Given the description of an element on the screen output the (x, y) to click on. 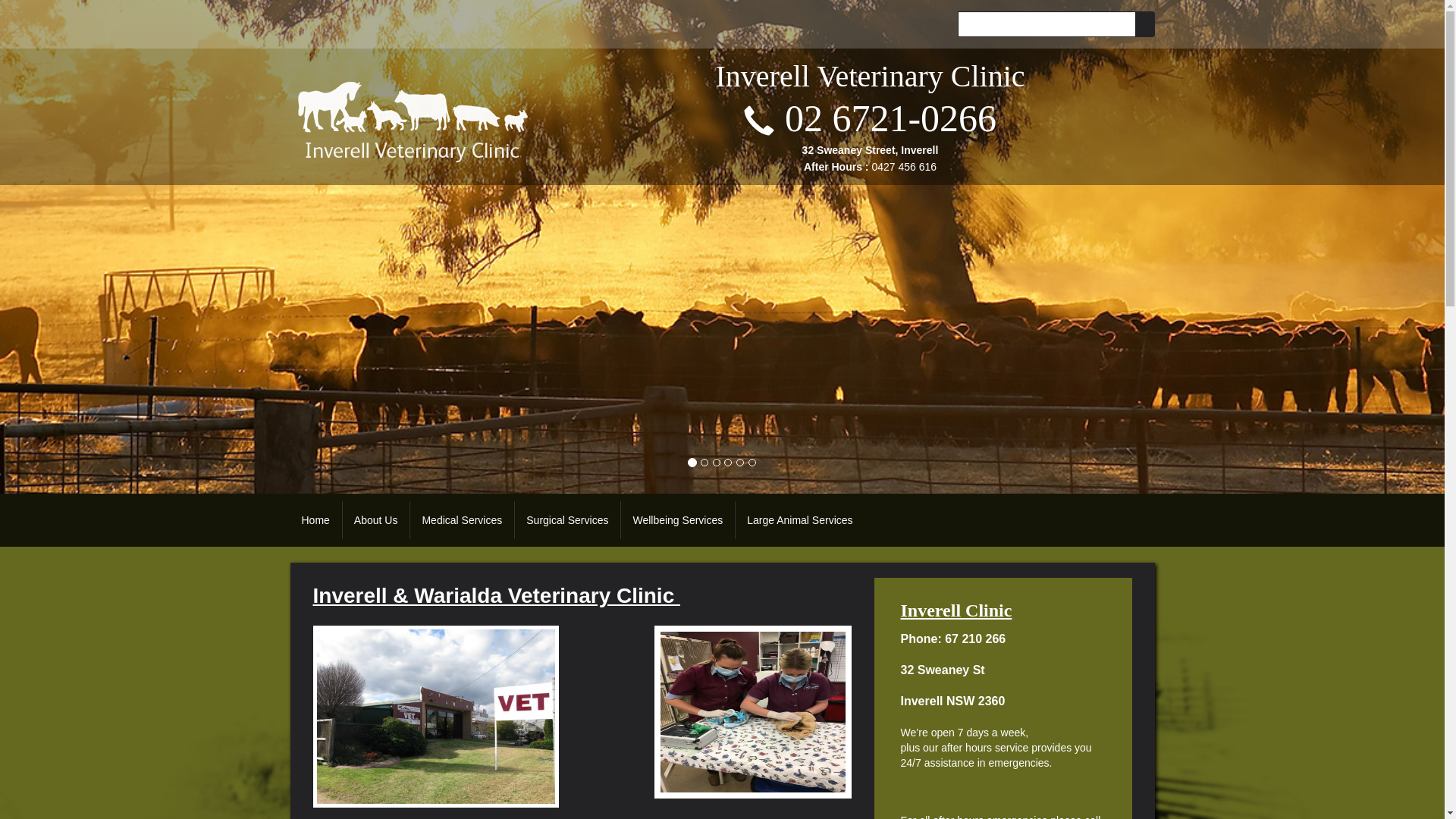
0427 456 616 Element type: text (903, 166)
Home Element type: text (315, 520)
Medical Services Element type: text (461, 520)
Large Animal Services Element type: text (798, 520)
Wellbeing Services Element type: text (677, 520)
About Us Element type: text (376, 520)
Surgical Services Element type: text (567, 520)
02 6721-0266 Element type: text (890, 118)
